Given the description of an element on the screen output the (x, y) to click on. 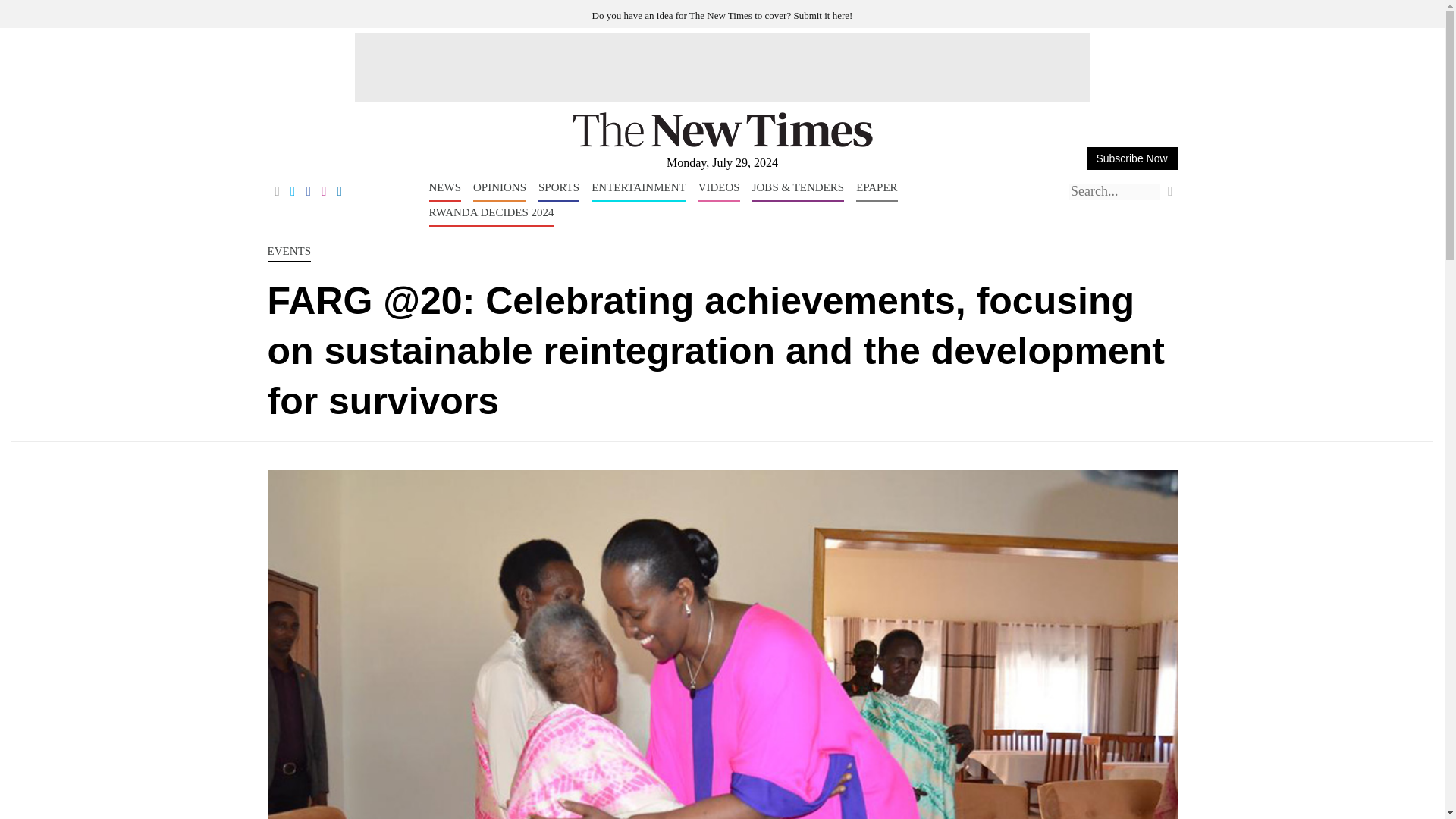
News (445, 191)
NEWS (445, 191)
Subscribe Now (1131, 158)
OPINIONS (499, 191)
The New Times (721, 144)
Submit New Ideas (722, 15)
SPORTS (558, 191)
